Given the description of an element on the screen output the (x, y) to click on. 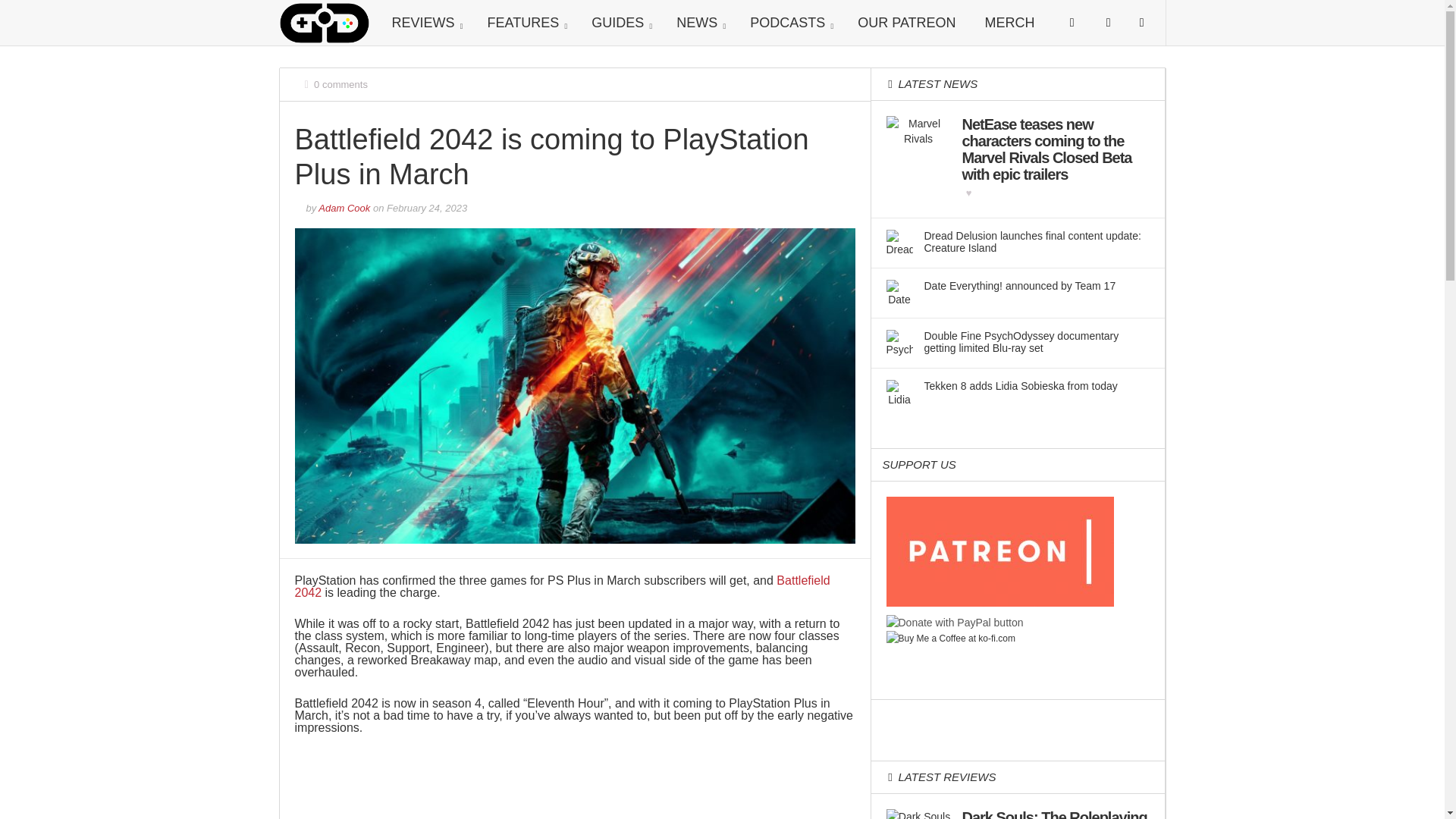
FEATURES (525, 22)
PODCASTS (789, 22)
GUIDES (619, 22)
REVIEWS (425, 22)
NEWS (698, 22)
Home (324, 21)
